Given the description of an element on the screen output the (x, y) to click on. 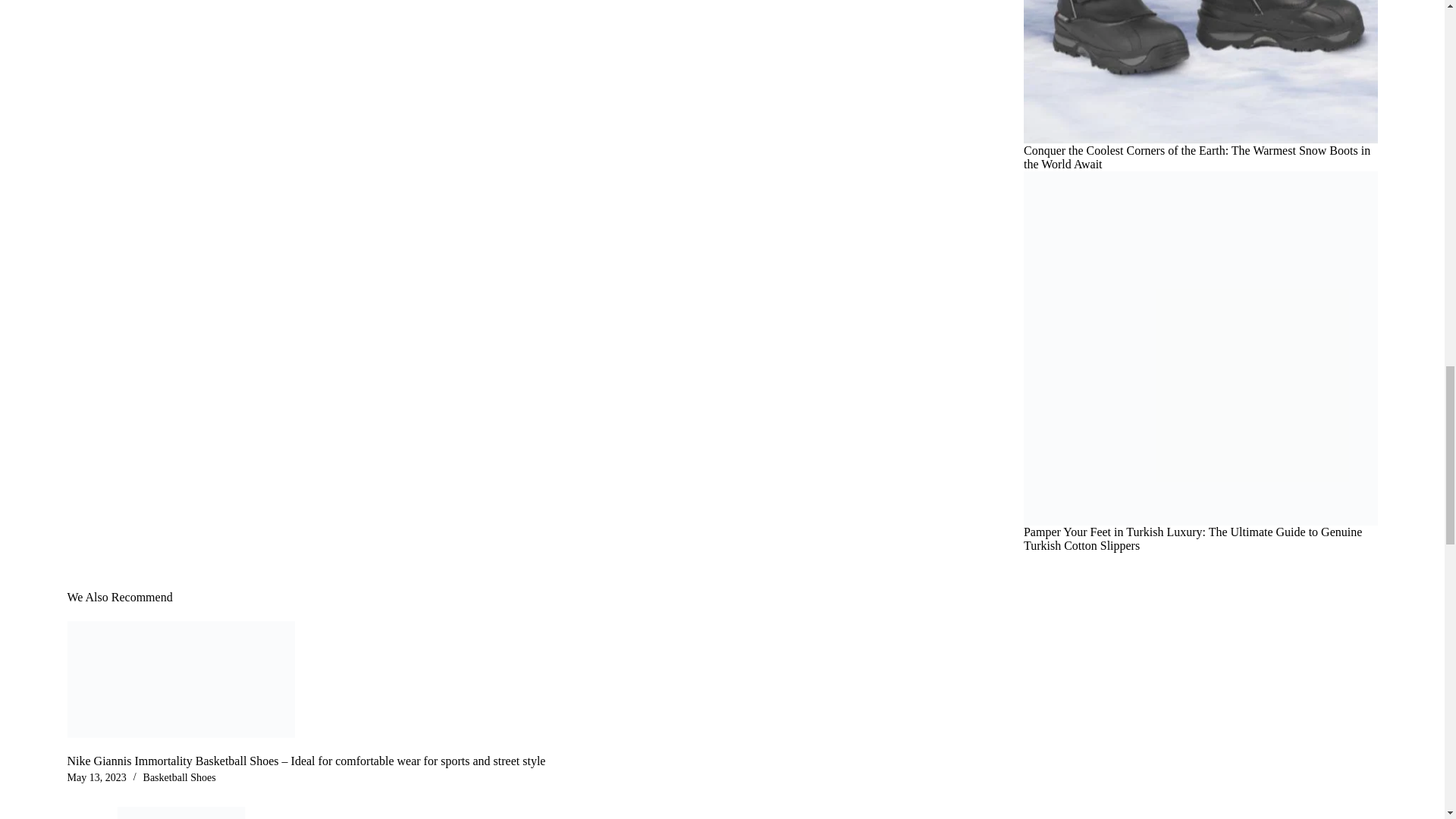
Basketball Shoes (178, 777)
